Given the description of an element on the screen output the (x, y) to click on. 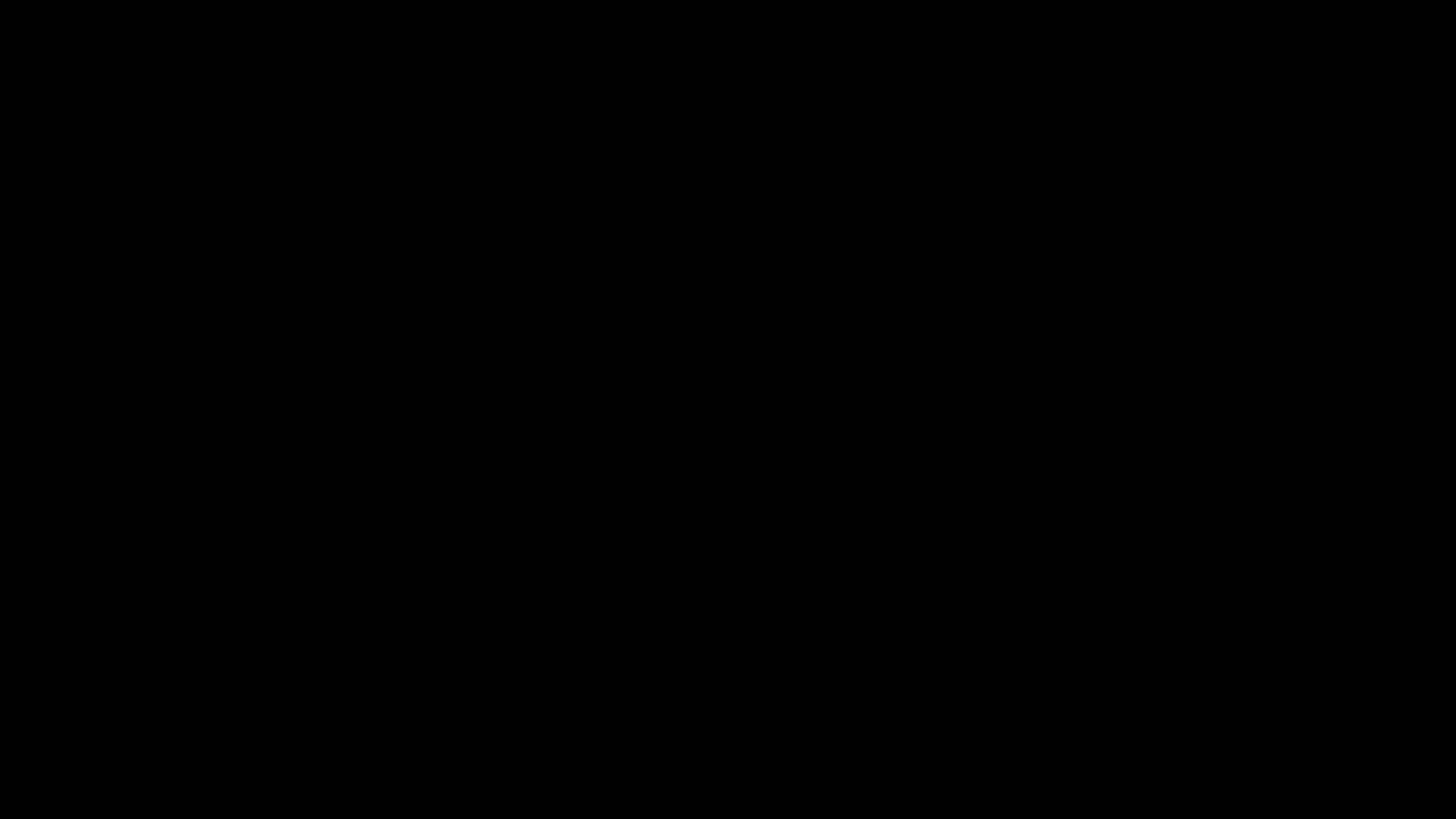
Built on Krop Element type: text (1422, 804)
